Given the description of an element on the screen output the (x, y) to click on. 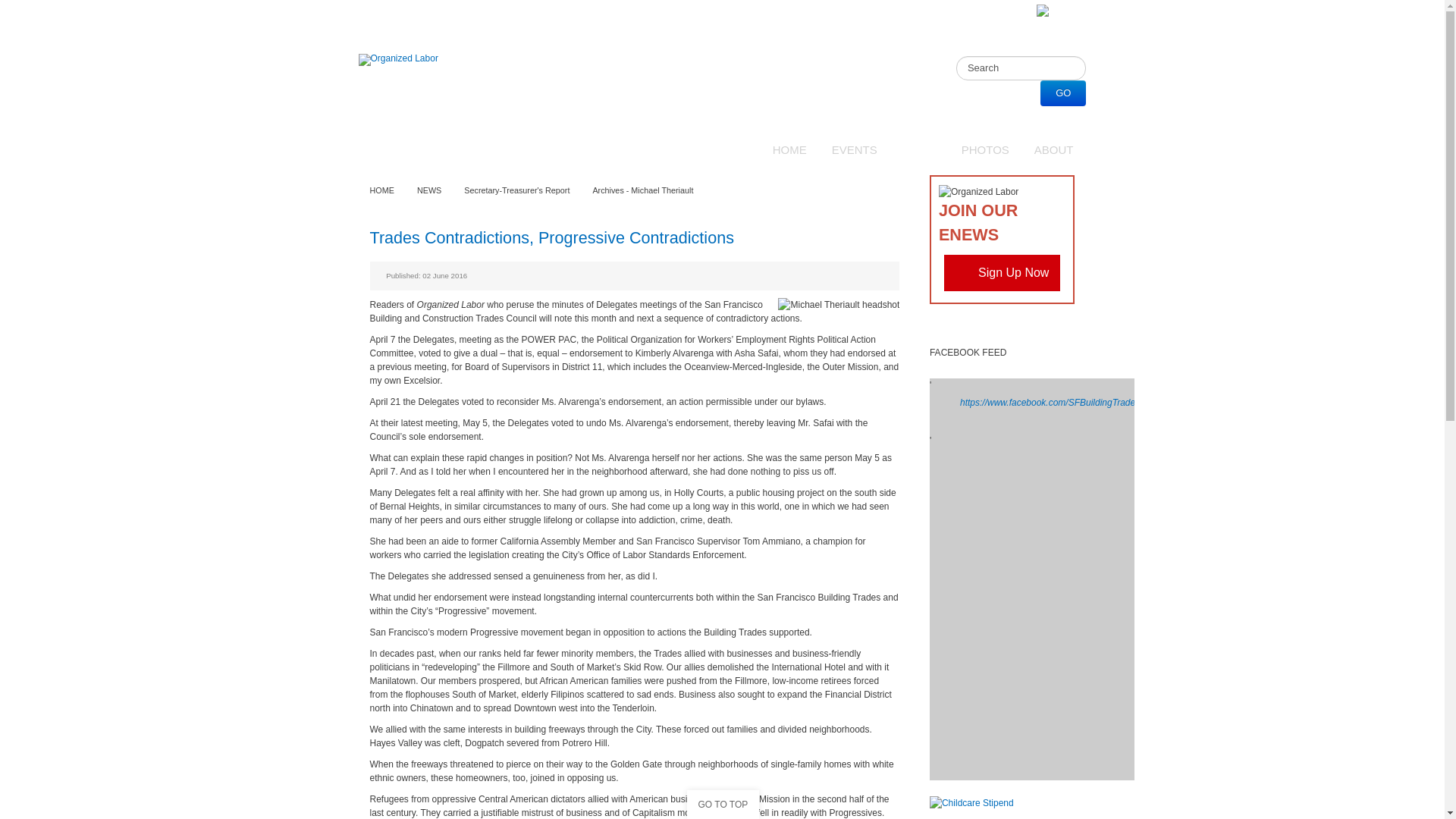
NEWS (919, 150)
Michael Theriault (838, 305)
ABOUT (1053, 150)
Childcare Stipend 1 (971, 801)
GO (1063, 93)
EVENTS (854, 150)
Search (1021, 68)
KAISER TOP BANNER (1055, 9)
HOME (789, 150)
PHOTOS (985, 150)
